Given the description of an element on the screen output the (x, y) to click on. 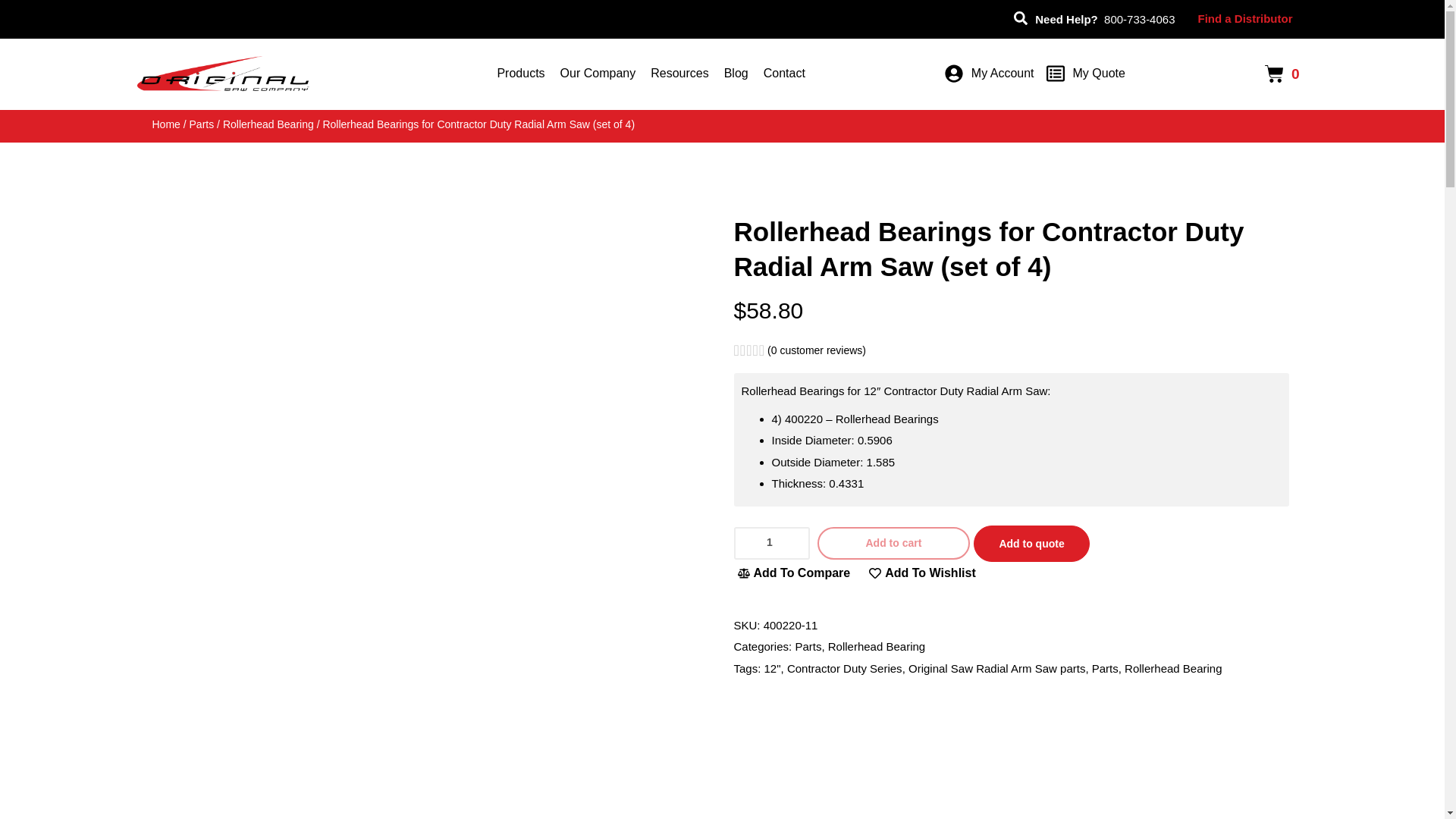
Find a Distributor (1245, 18)
Products (520, 73)
Resources (679, 73)
Our Company (598, 73)
1 (771, 543)
800-733-4063 (1138, 19)
